Given the description of an element on the screen output the (x, y) to click on. 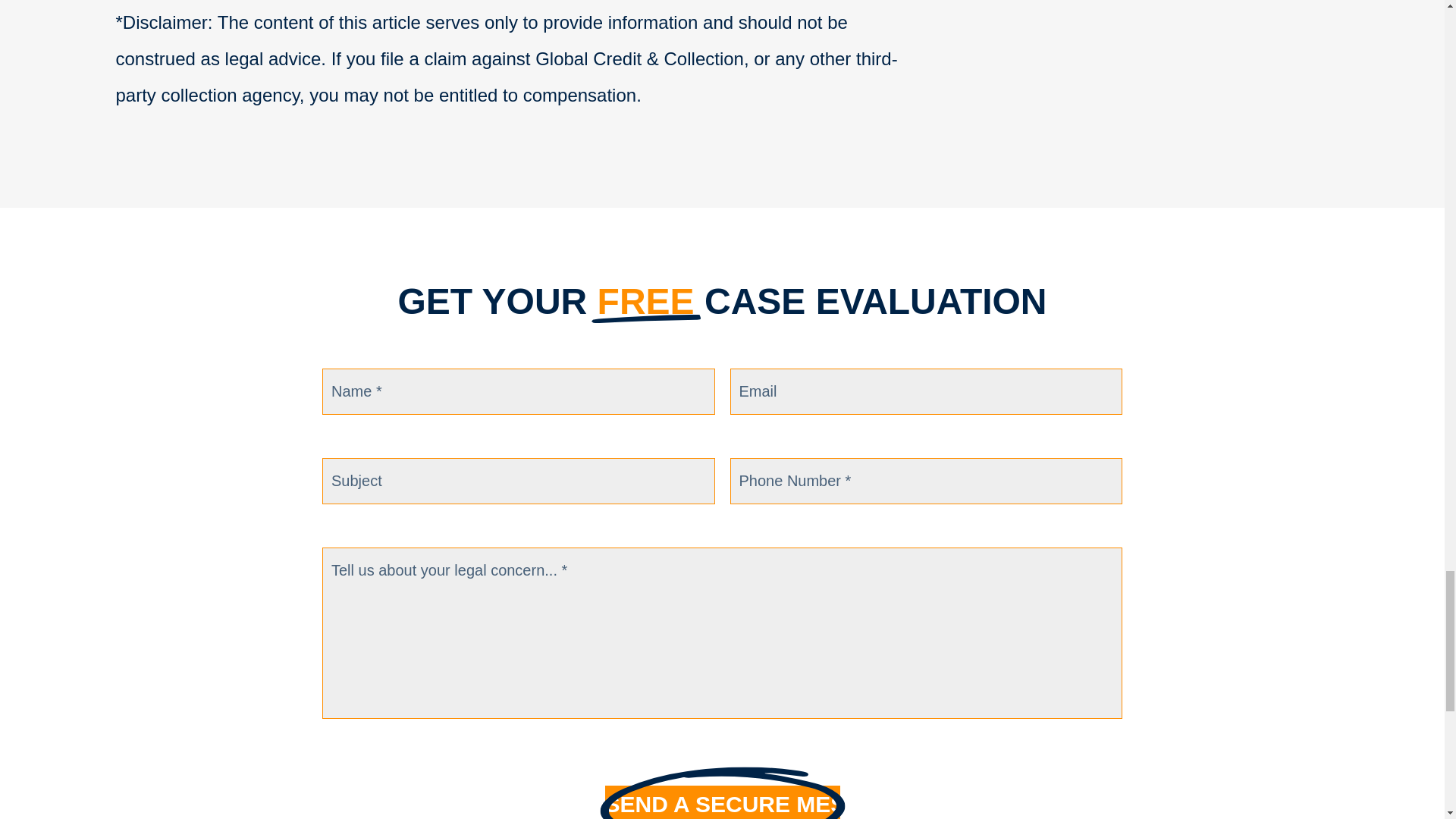
Send a Secure Message (722, 802)
Send a Secure Message (722, 802)
